Given the description of an element on the screen output the (x, y) to click on. 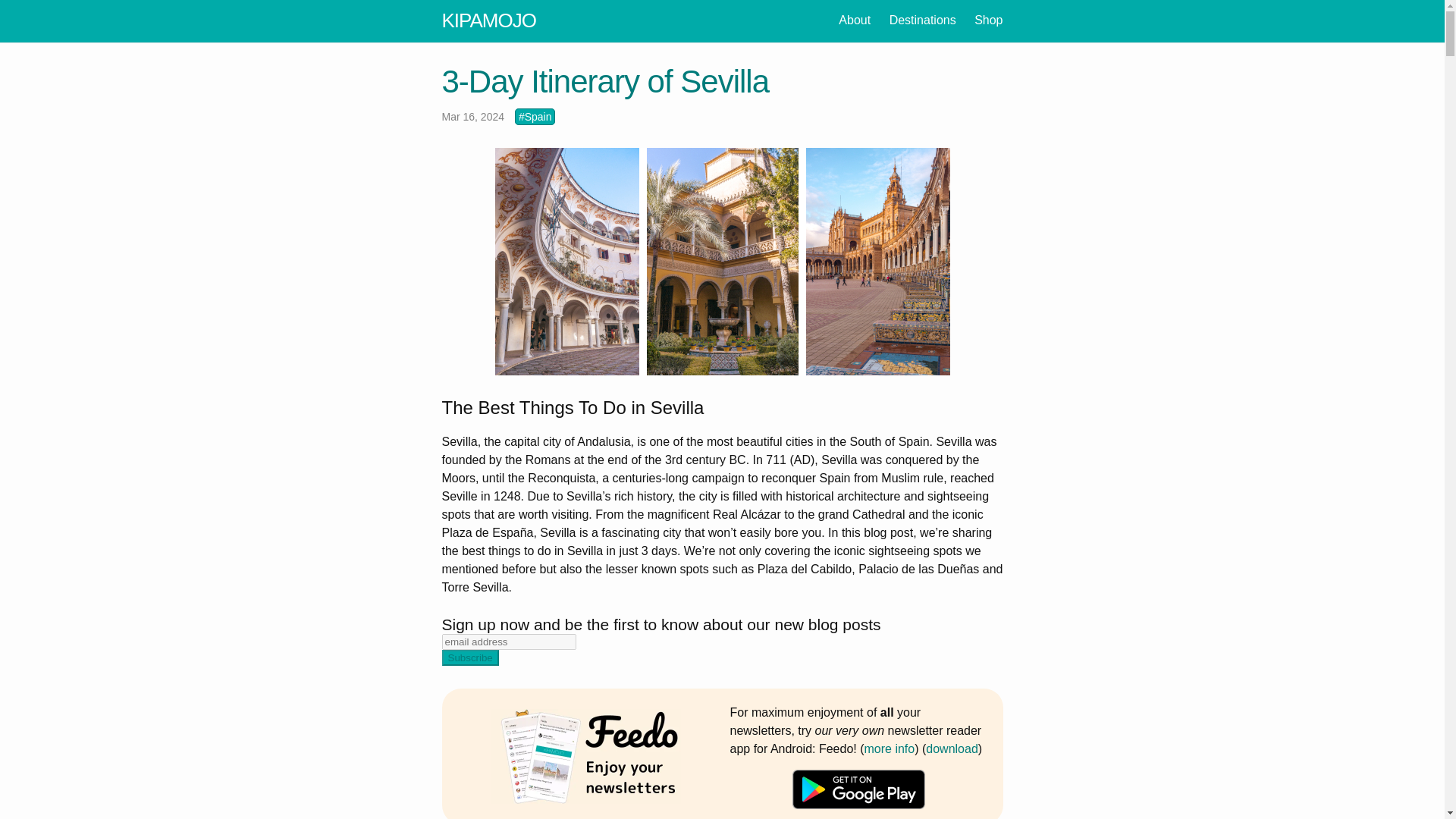
Subscribe (469, 657)
download (952, 748)
About (854, 19)
Shop (988, 19)
Subscribe (469, 657)
more info (889, 748)
KIPAMOJO (488, 20)
Destinations (922, 19)
